Given the description of an element on the screen output the (x, y) to click on. 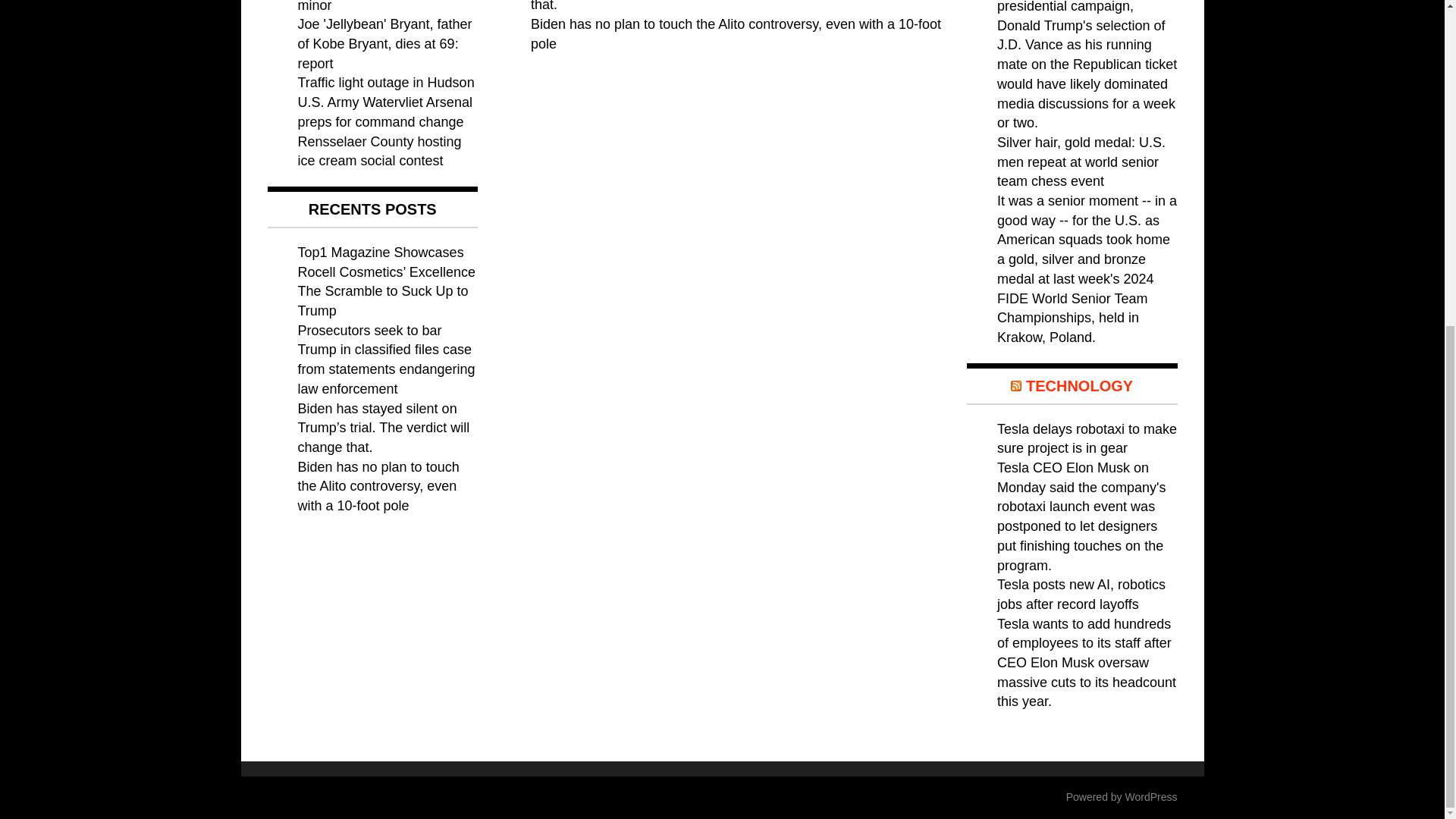
Tesla posts new AI, robotics jobs after record layoffs (1081, 594)
WordPress (1151, 797)
Rensselaer County hosting ice cream social contest (379, 151)
TECHNOLOGY (1079, 385)
U.S. Army Watervliet Arsenal preps for command change (384, 112)
DOJ: Man pleads guilty to traveling to Albany to meet minor (377, 6)
Tesla delays robotaxi to make sure project is in gear (1086, 438)
Traffic light outage in Hudson (385, 82)
The Scramble to Suck Up to Trump (382, 300)
